Given the description of an element on the screen output the (x, y) to click on. 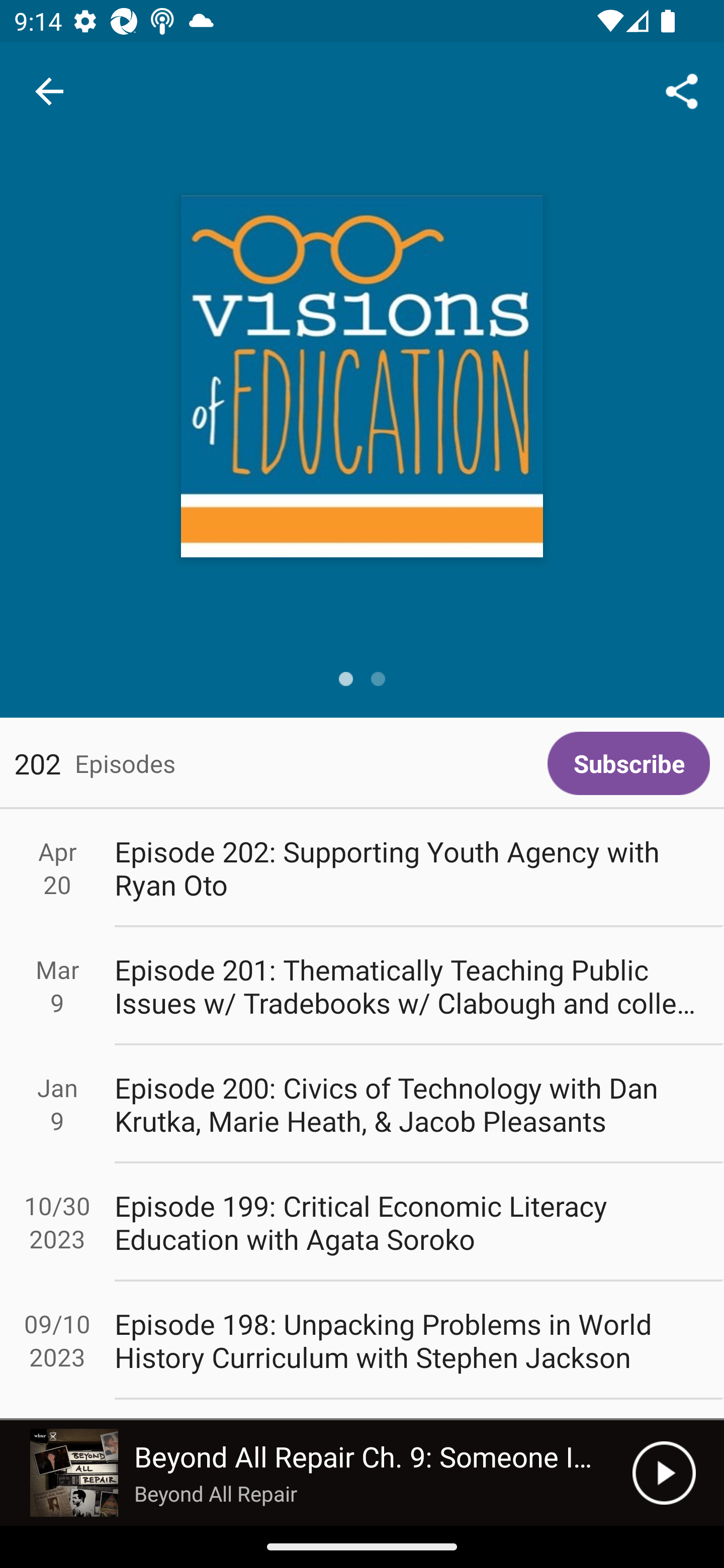
Navigate up (49, 91)
Share... (681, 90)
Subscribe (628, 763)
Play (663, 1472)
